Given the description of an element on the screen output the (x, y) to click on. 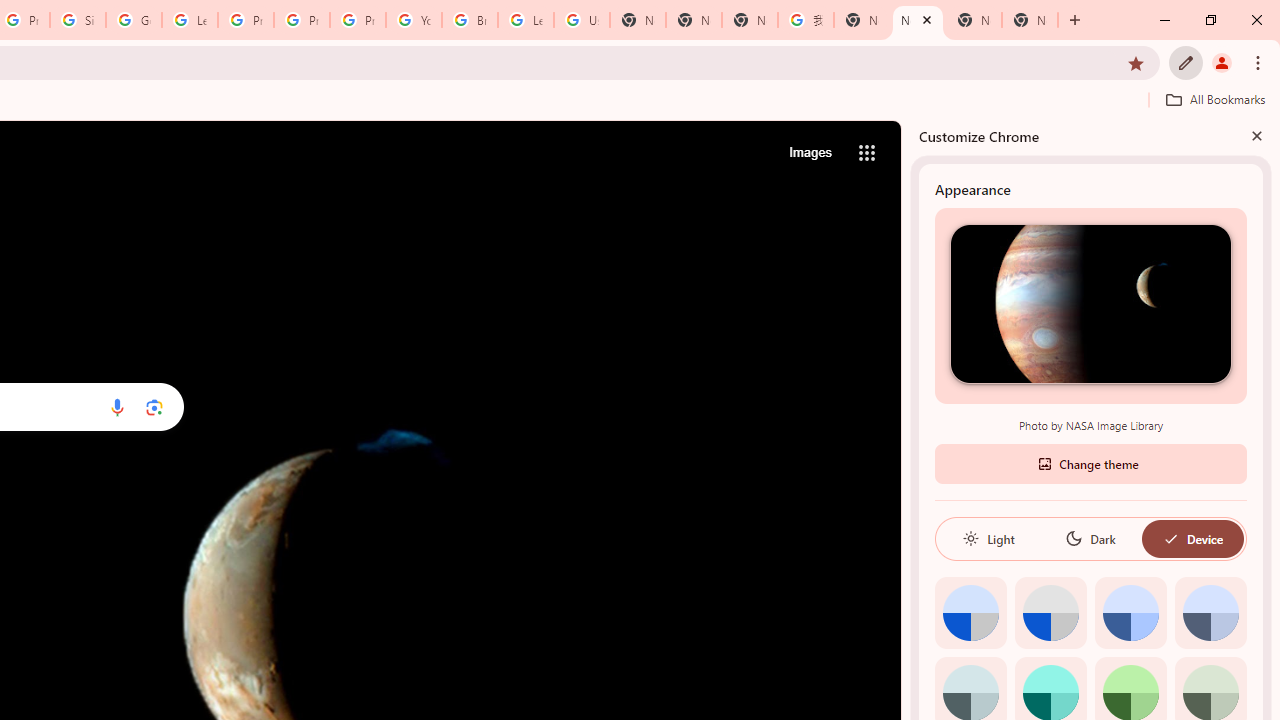
Change theme (1090, 462)
Default color (970, 612)
Privacy Help Center - Policies Help (301, 20)
Device (1192, 538)
Blue (1130, 612)
YouTube (413, 20)
